Given the description of an element on the screen output the (x, y) to click on. 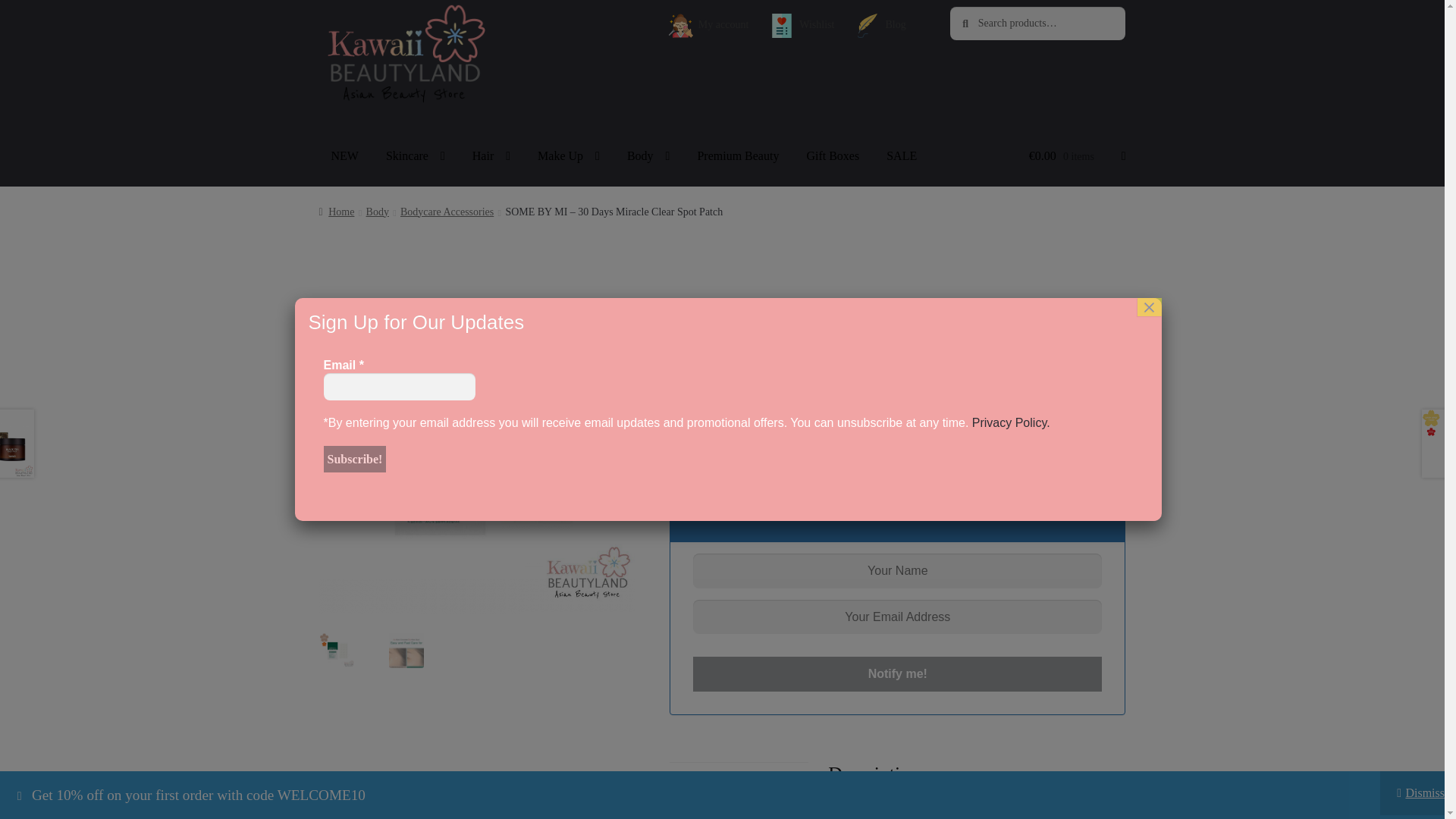
My account (708, 25)
Hair (491, 155)
Skincare (415, 155)
View your shopping cart (1077, 155)
Make Up (568, 155)
Notify me! (897, 673)
Blog (880, 25)
Gift Boxes (831, 155)
Premium Beauty (737, 155)
Email (398, 386)
Subscribe! (354, 459)
Wishlist (802, 25)
Body (648, 155)
